Given the description of an element on the screen output the (x, y) to click on. 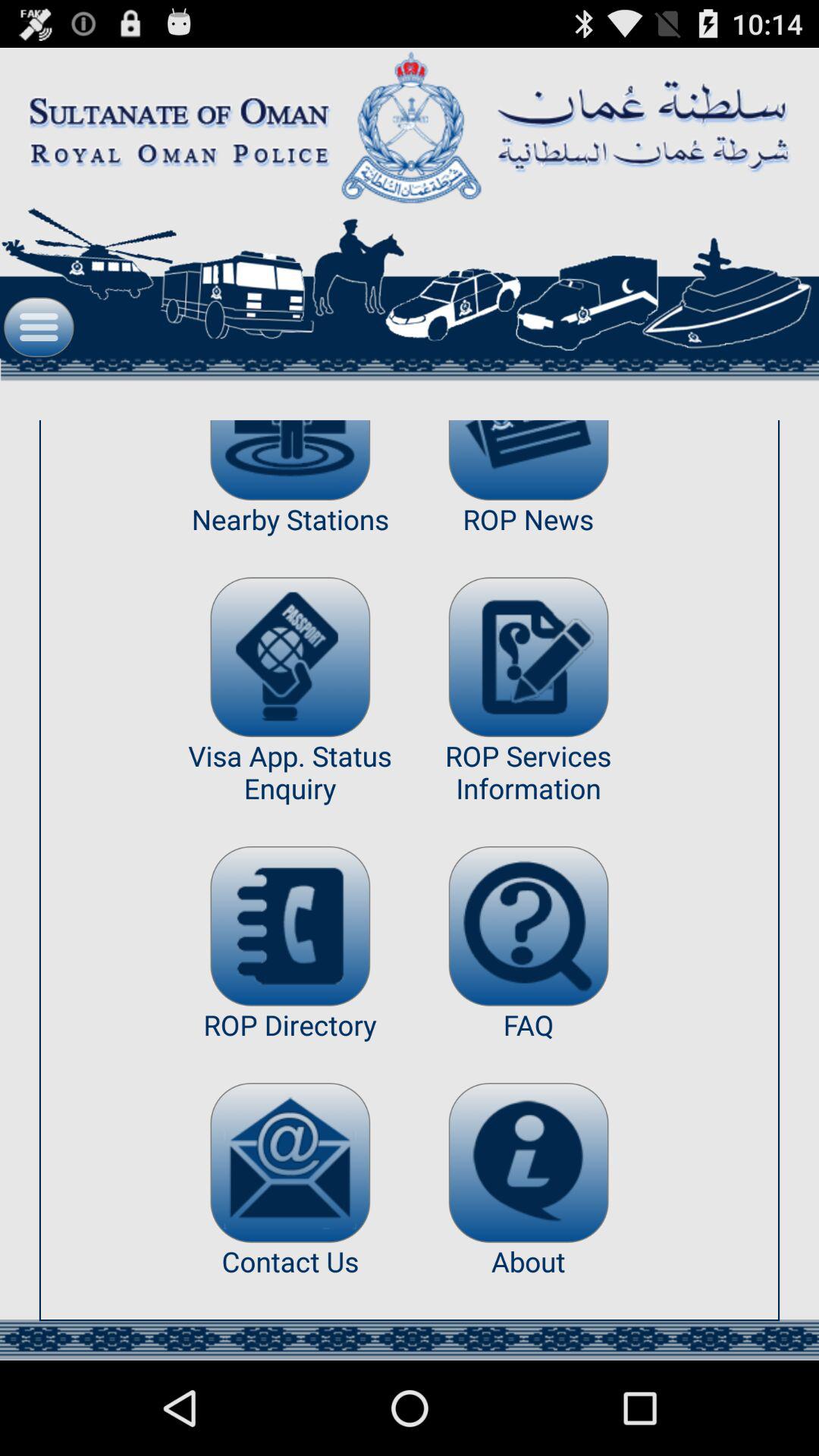
more info on visa status (290, 657)
